Given the description of an element on the screen output the (x, y) to click on. 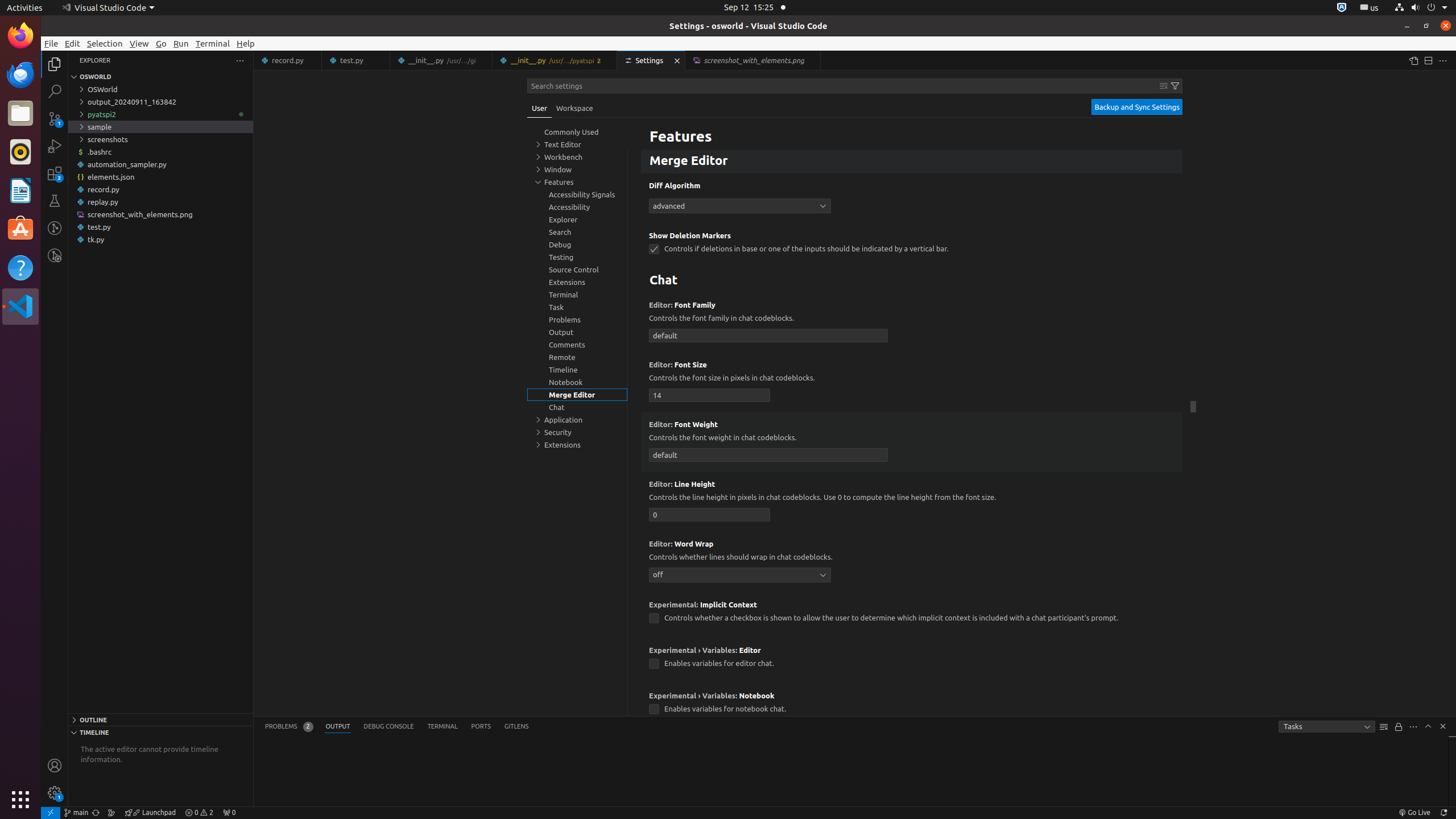
Backup and Sync Settings Element type: push-button (1136, 106)
Timeline Section Element type: push-button (160, 731)
Security, group Element type: tree-item (577, 431)
advanced Element type: menu-item (739, 205)
Editor Font Weight. Controls the font weight in chat codeblocks.  Element type: tree-item (911, 442)
